Given the description of an element on the screen output the (x, y) to click on. 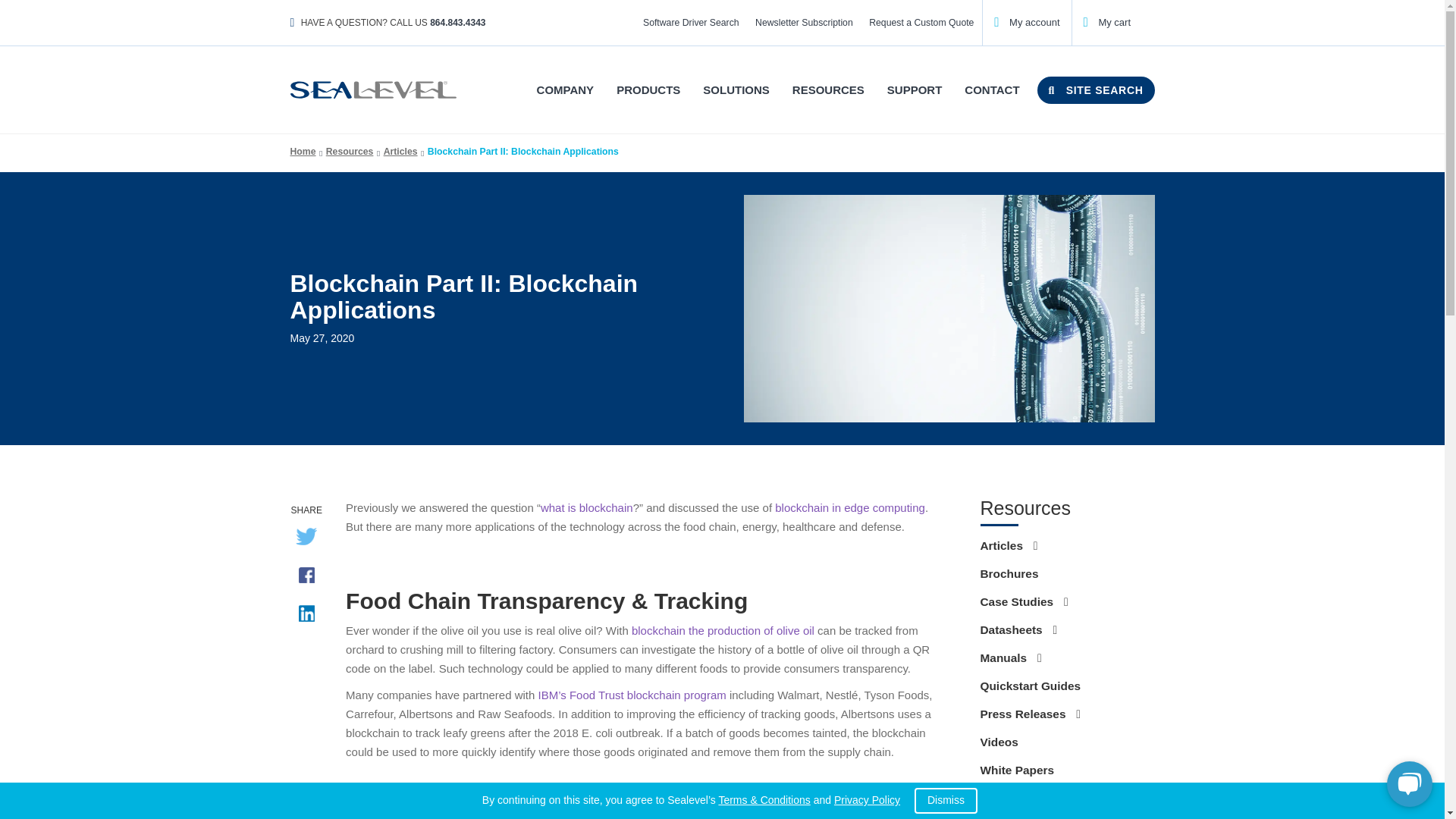
COMPANY (565, 89)
PRODUCTS (648, 89)
My cart (1106, 21)
Facebook (306, 580)
My account (1026, 21)
864.843.4343 (456, 22)
LinkedIn (306, 618)
Twitter (306, 542)
Request a Custom Quote (920, 22)
Software Driver Search (690, 22)
Newsletter Subscription (803, 22)
SOLUTIONS (735, 89)
